Given the description of an element on the screen output the (x, y) to click on. 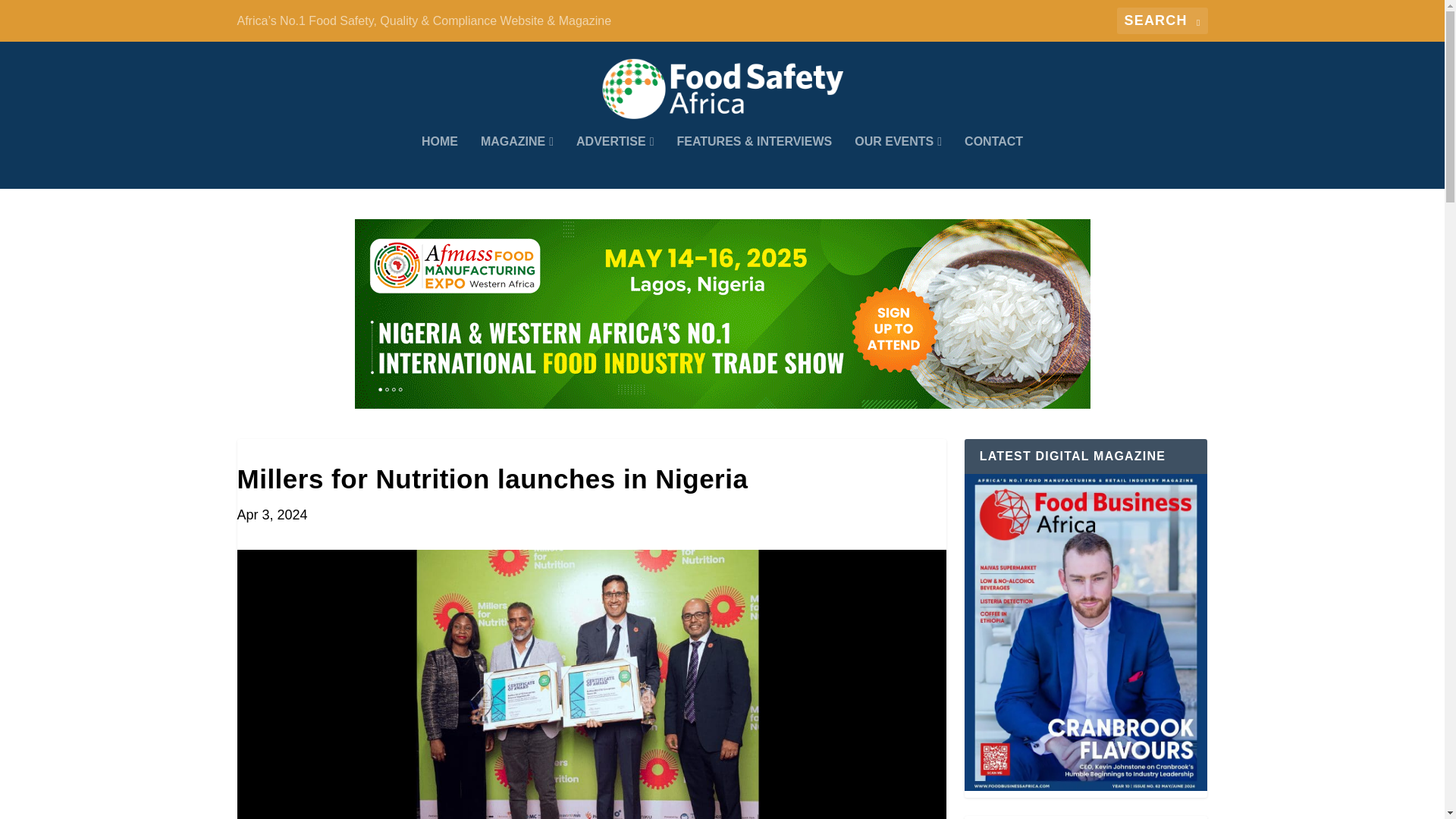
CONTACT (993, 162)
ADVERTISE (614, 162)
MAGAZINE (516, 162)
Search for: (1161, 20)
OUR EVENTS (898, 162)
